Given the description of an element on the screen output the (x, y) to click on. 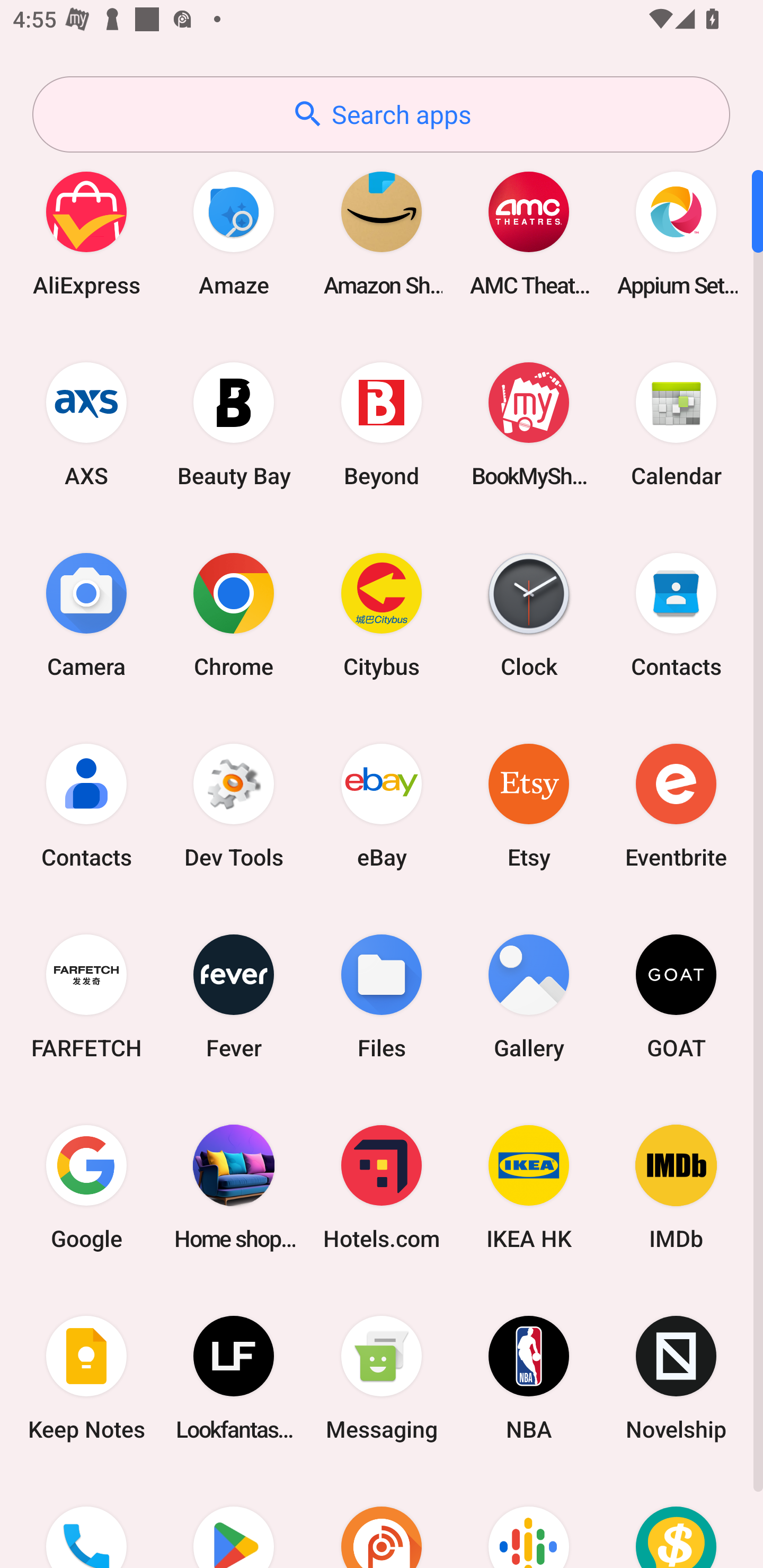
  Search apps (381, 114)
AliExpress (86, 233)
Amaze (233, 233)
Amazon Shopping (381, 233)
AMC Theatres (528, 233)
Appium Settings (676, 233)
AXS (86, 424)
Beauty Bay (233, 424)
Beyond (381, 424)
BookMyShow (528, 424)
Calendar (676, 424)
Camera (86, 614)
Chrome (233, 614)
Citybus (381, 614)
Clock (528, 614)
Contacts (676, 614)
Contacts (86, 805)
Dev Tools (233, 805)
eBay (381, 805)
Etsy (528, 805)
Eventbrite (676, 805)
FARFETCH (86, 996)
Fever (233, 996)
Files (381, 996)
Gallery (528, 996)
GOAT (676, 996)
Google (86, 1186)
Home shopping (233, 1186)
Hotels.com (381, 1186)
IKEA HK (528, 1186)
IMDb (676, 1186)
Keep Notes (86, 1377)
Lookfantastic (233, 1377)
Messaging (381, 1377)
NBA (528, 1377)
Novelship (676, 1377)
Phone (86, 1520)
Play Store (233, 1520)
Podcast Addict (381, 1520)
Podcasts (528, 1520)
Price (676, 1520)
